Given the description of an element on the screen output the (x, y) to click on. 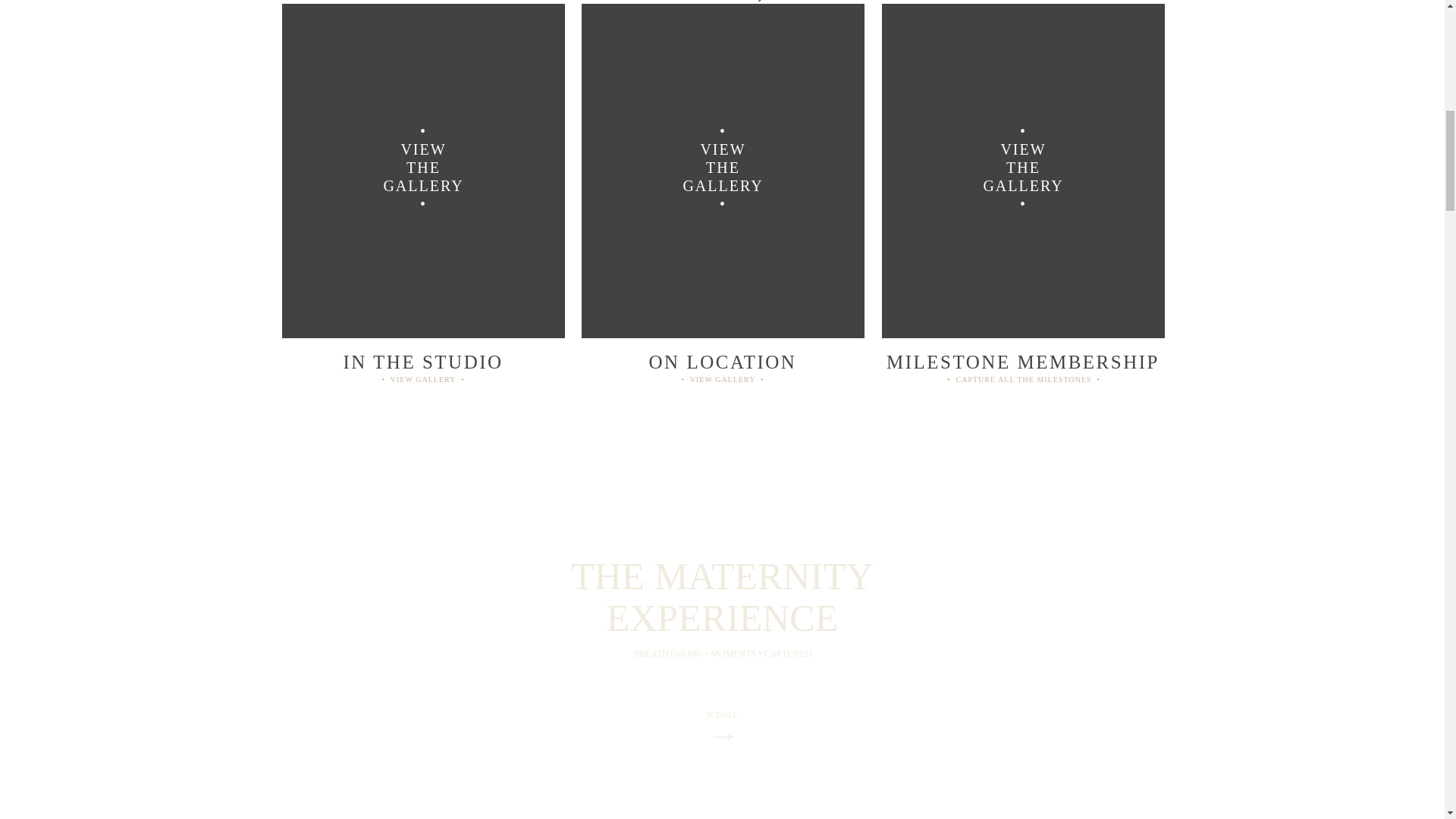
IN THE STUDIO (423, 359)
SCROLL (722, 715)
MILESTONE MEMBERSHIP (1021, 359)
ON LOCATION (721, 359)
